Given the description of an element on the screen output the (x, y) to click on. 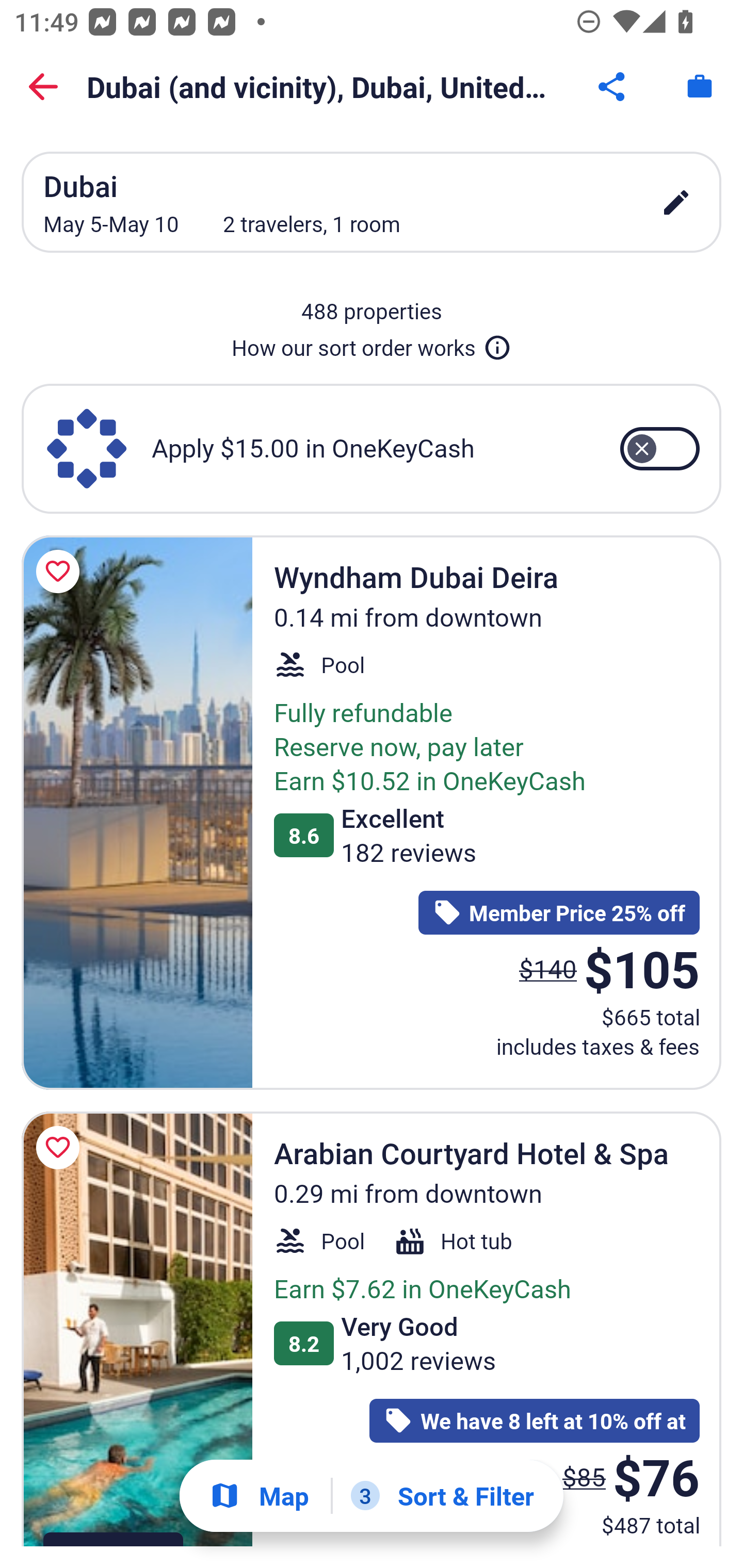
Back (43, 86)
Share Button (612, 86)
Trips. Button (699, 86)
Dubai May 5-May 10 2 travelers, 1 room edit (371, 202)
How our sort order works (371, 344)
Save Wyndham Dubai Deira to a trip (61, 571)
Wyndham Dubai Deira (136, 811)
$140 The price was $140 (547, 968)
Save Arabian Courtyard Hotel & Spa to a trip (61, 1147)
Arabian Courtyard Hotel & Spa (136, 1328)
$85 The price was $85 (583, 1476)
3 Sort & Filter 3 Filters applied. Filters Button (442, 1495)
Show map Map Show map Button (258, 1495)
